Given the description of an element on the screen output the (x, y) to click on. 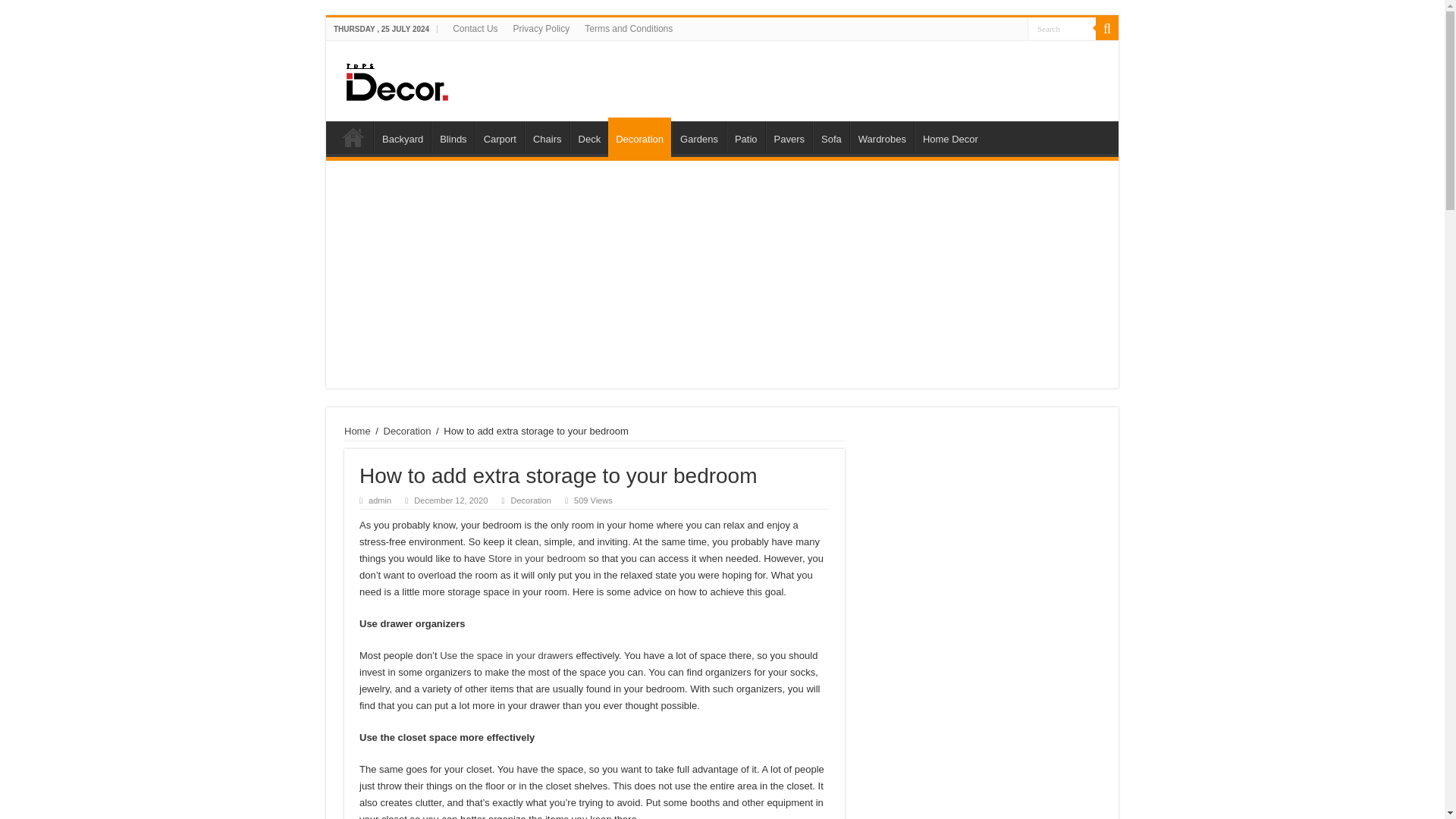
Patio (745, 137)
Chairs (546, 137)
Store in your bedroom (536, 558)
Backyard (402, 137)
Gardens (698, 137)
Terms and Conditions (627, 28)
Search (1061, 28)
Blinds (452, 137)
Home (352, 137)
Deck (589, 137)
Wardrobes (882, 137)
Decoration (639, 137)
admin (379, 500)
Sofa (830, 137)
